Given the description of an element on the screen output the (x, y) to click on. 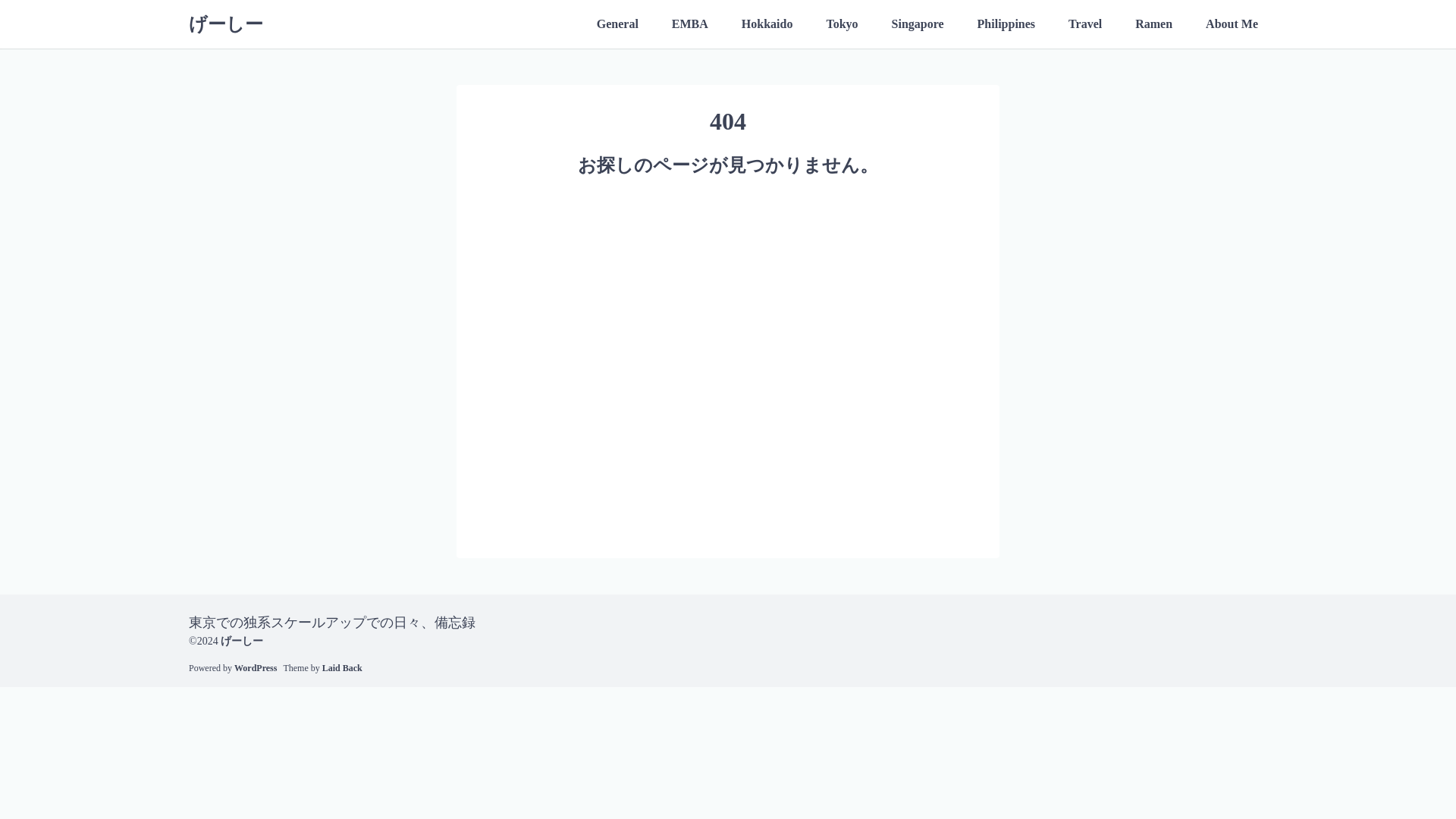
Philippines (1005, 24)
Tokyo (841, 24)
Travel (1084, 24)
WordPress (255, 667)
General (617, 24)
Ramen (1152, 24)
Laid Back (341, 667)
Singapore (917, 24)
About Me (1231, 24)
EMBA (689, 24)
